Given the description of an element on the screen output the (x, y) to click on. 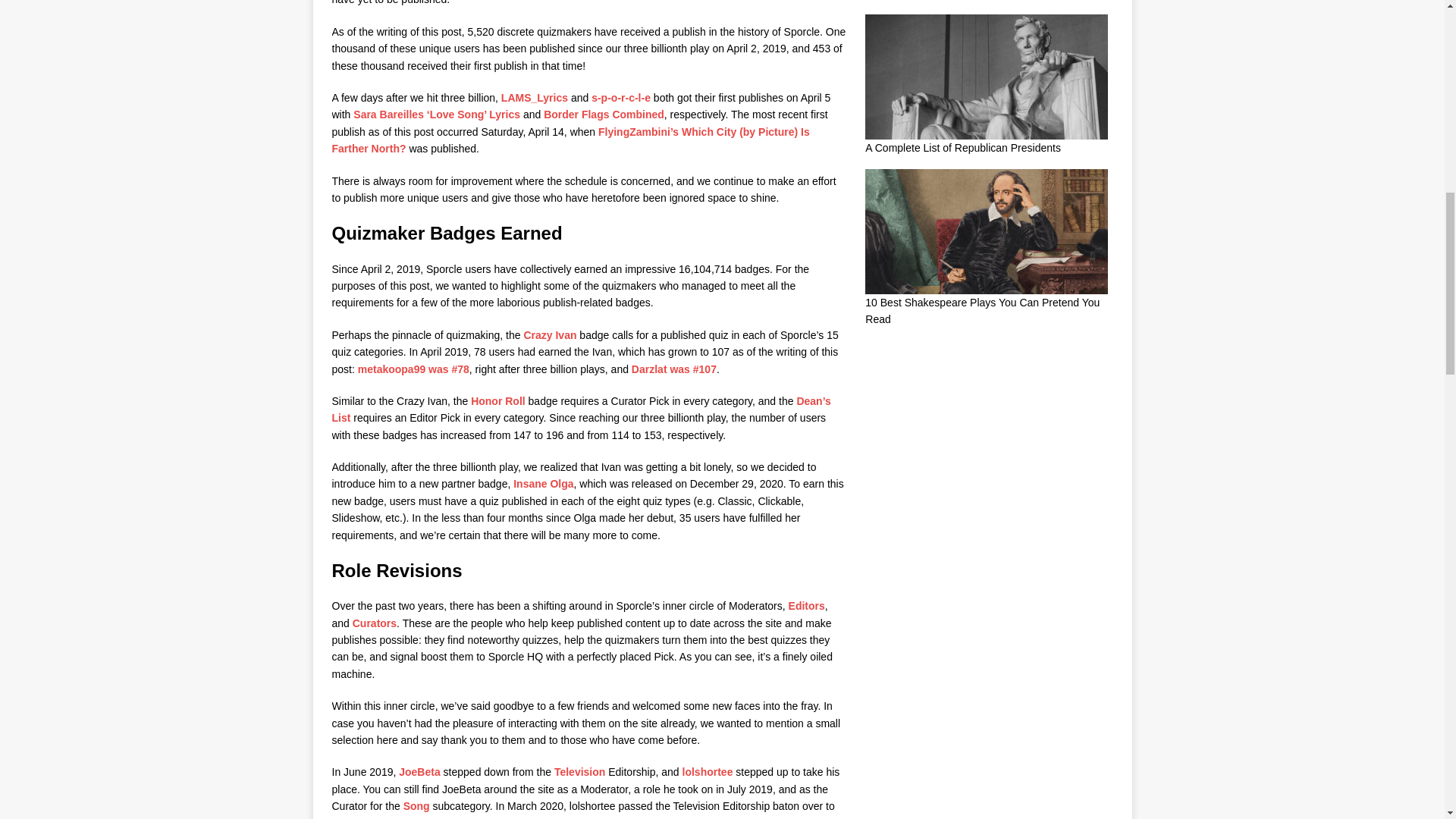
s-p-o-r-c-l-e (620, 97)
Crazy Ivan (549, 335)
Border Flags Combined (603, 114)
